Given the description of an element on the screen output the (x, y) to click on. 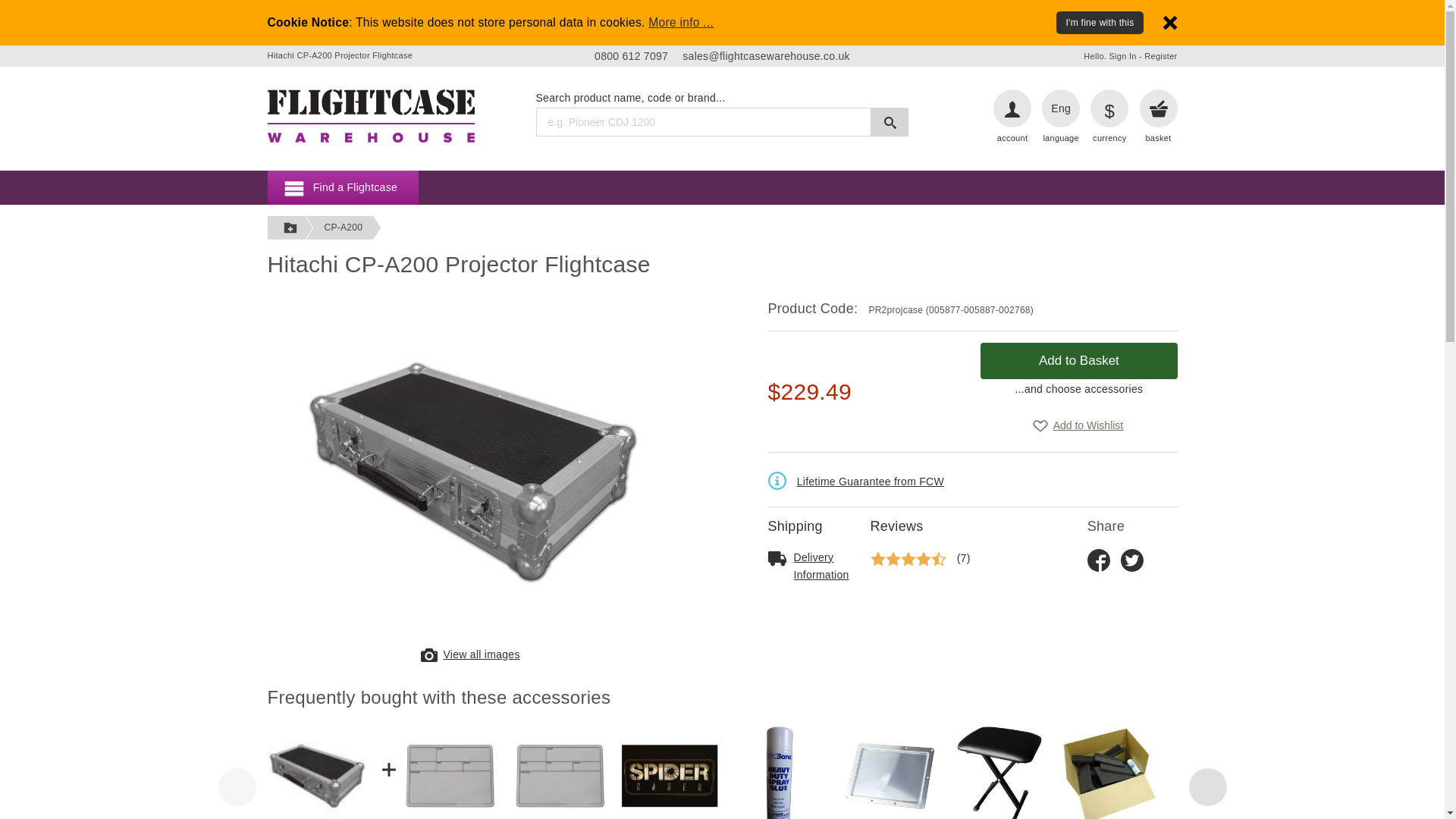
Register (1160, 55)
basket (1157, 137)
Dismiss - I'm fine with this (1169, 21)
account (1012, 137)
Share on Twitter (1131, 558)
0800 612 7097 (631, 55)
Eng (1061, 108)
Add this item to the Basket (1077, 361)
USD (1109, 108)
Hello. Sign In (1109, 55)
Show Breadcrumbs (289, 227)
English (1061, 108)
Hitachi CP-A200 Projector Flightcase (370, 115)
Add to Basket (1077, 361)
